Given the description of an element on the screen output the (x, y) to click on. 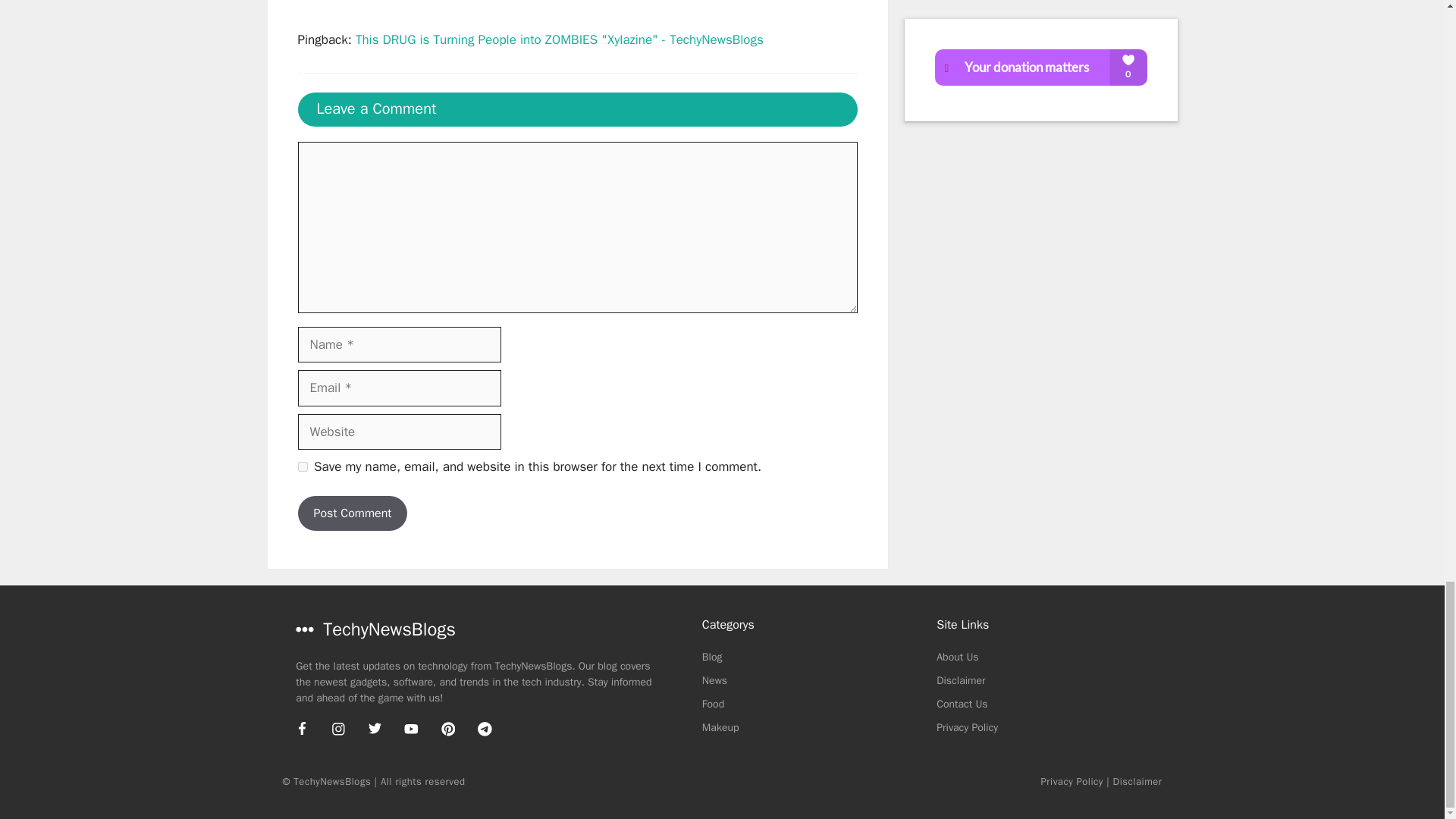
Post Comment (352, 513)
yes (302, 466)
Post Comment (352, 513)
